Given the description of an element on the screen output the (x, y) to click on. 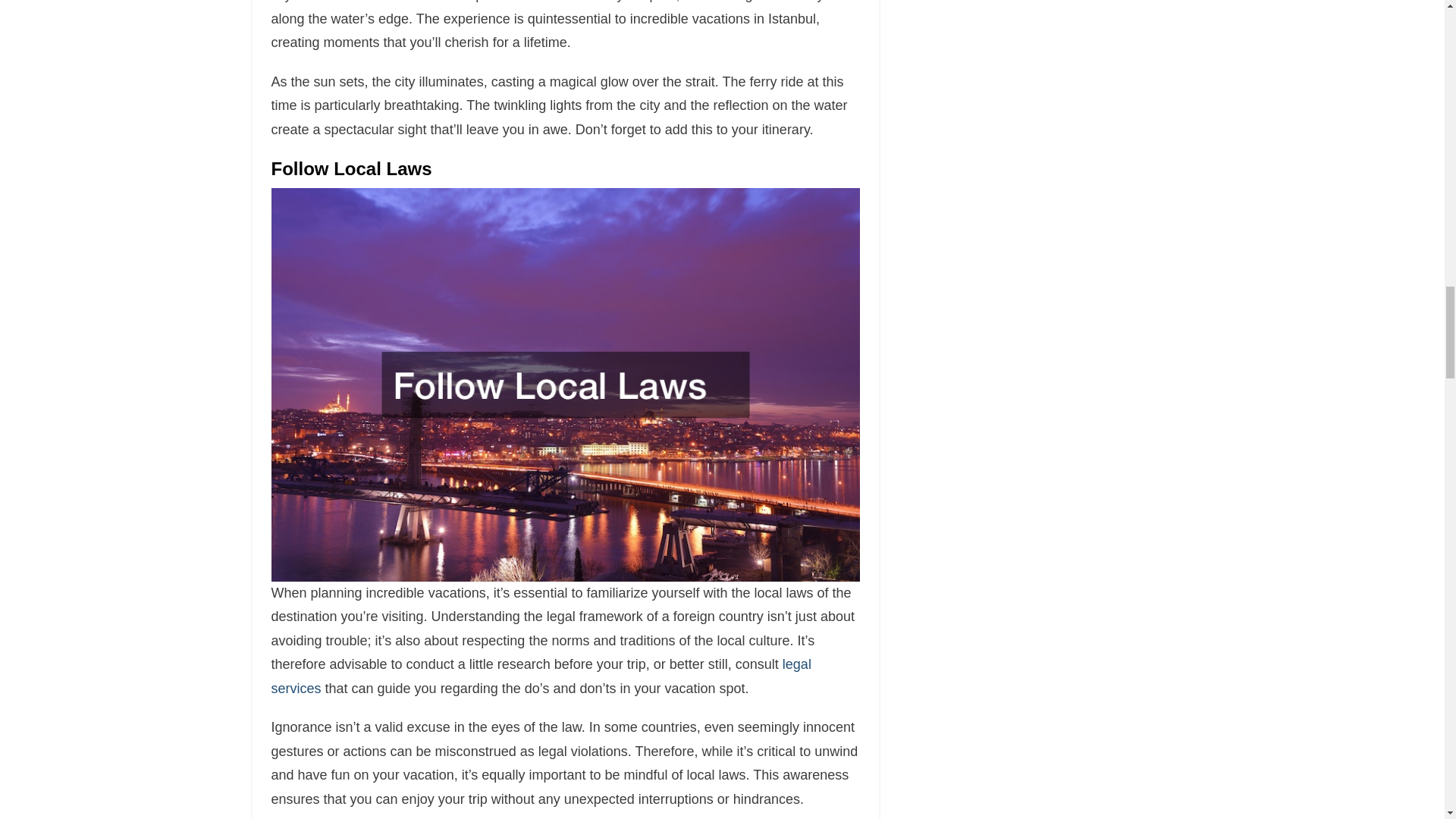
legal services (540, 676)
